Given the description of an element on the screen output the (x, y) to click on. 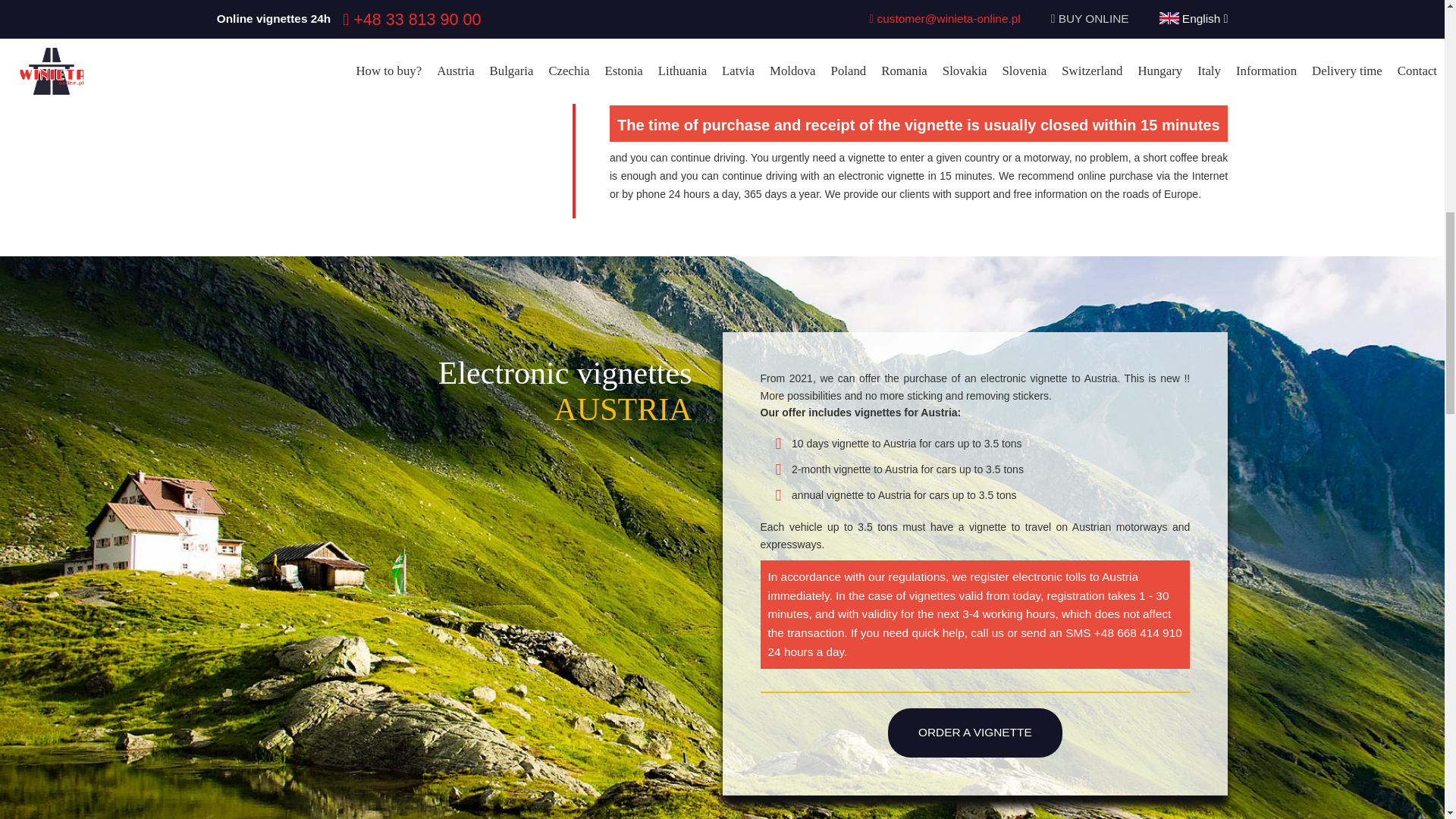
ORDER A VIGNETTE (975, 732)
